Given the description of an element on the screen output the (x, y) to click on. 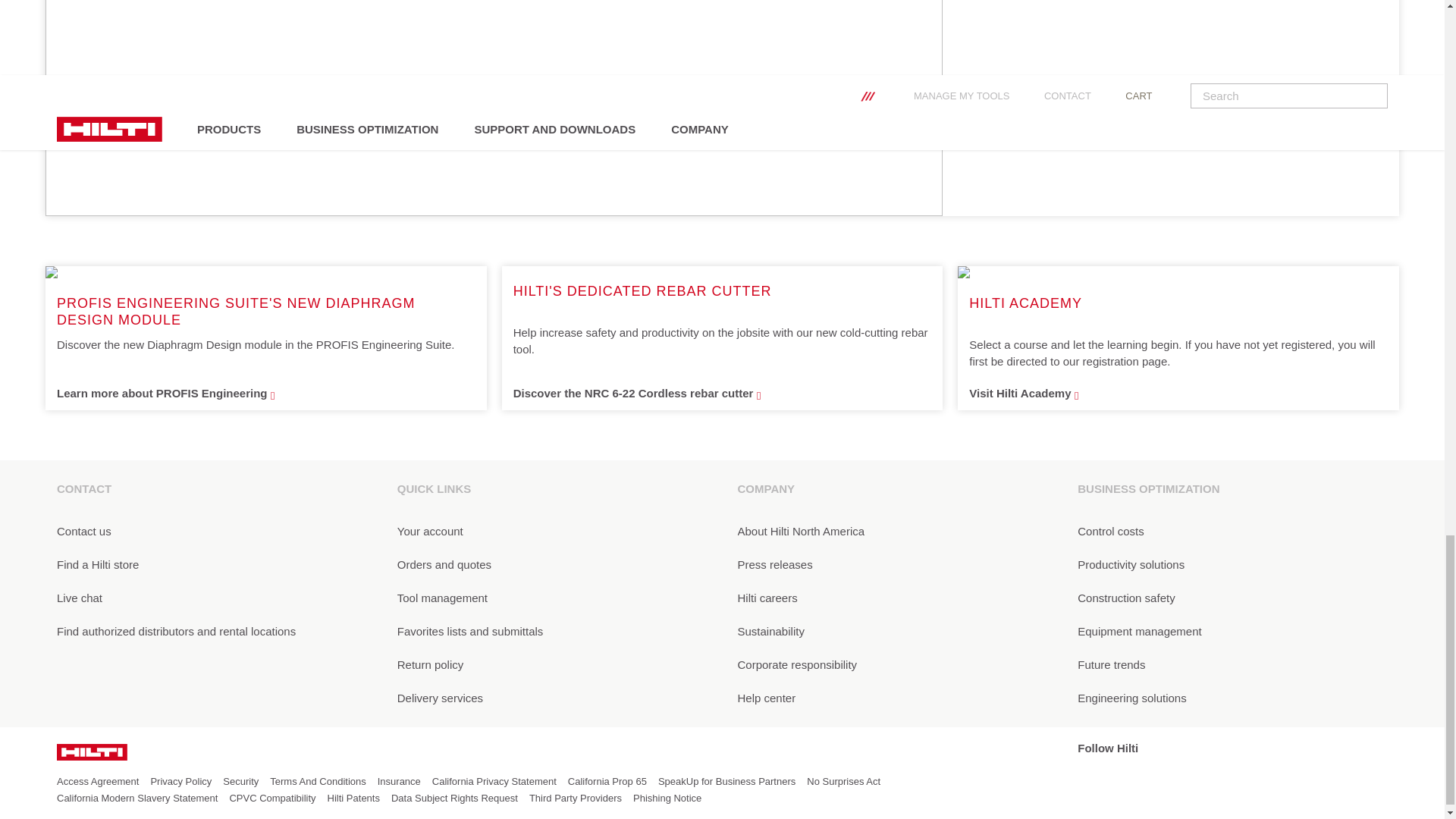
Visit Hilti Academy (1178, 393)
Discover the NRC 6-22 Cordless rebar cutter (722, 393)
CONTACT (211, 489)
Contact us (211, 530)
Learn more about PROFIS Engineering (266, 393)
